Given the description of an element on the screen output the (x, y) to click on. 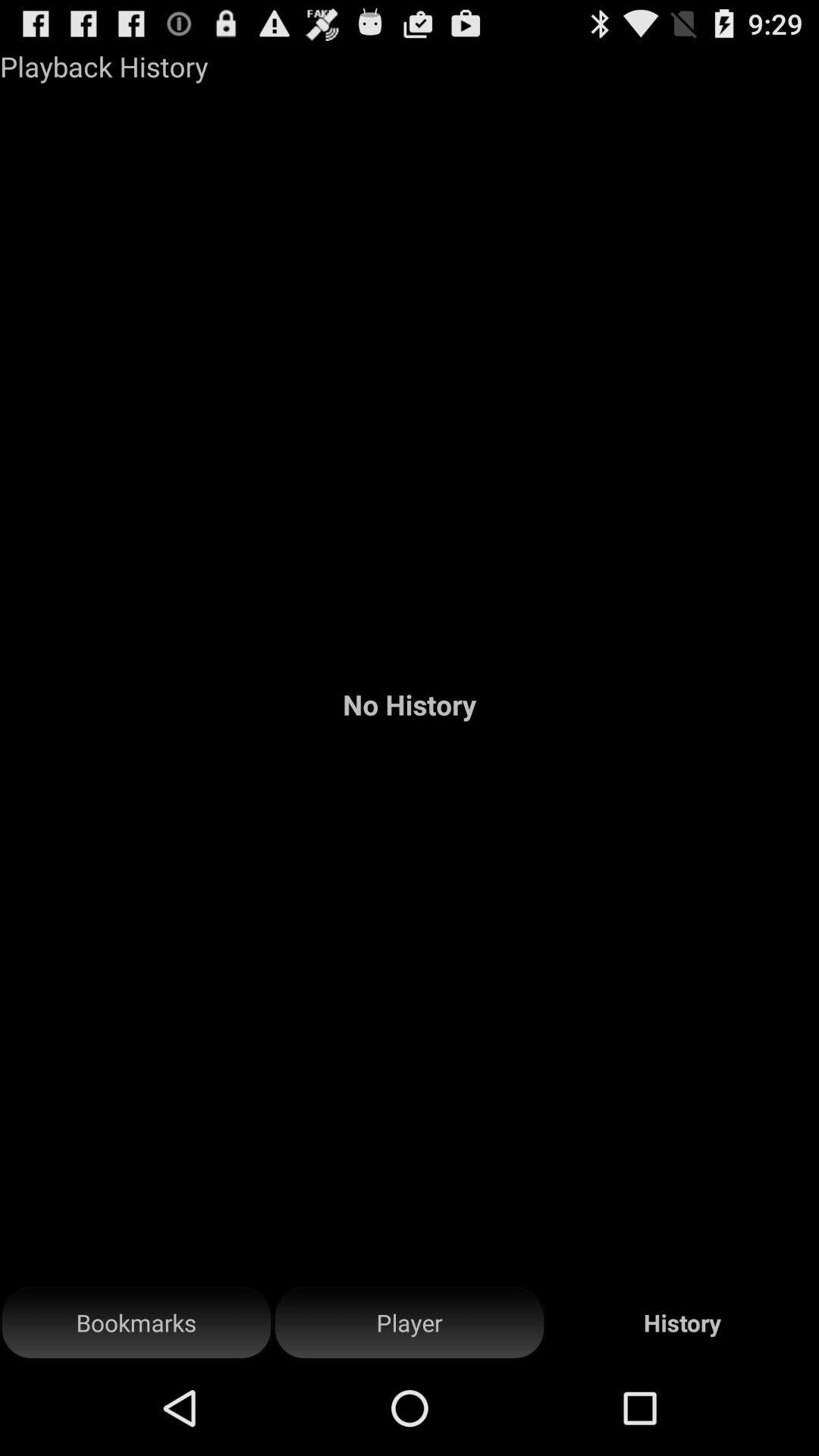
jump until bookmarks button (136, 1323)
